Given the description of an element on the screen output the (x, y) to click on. 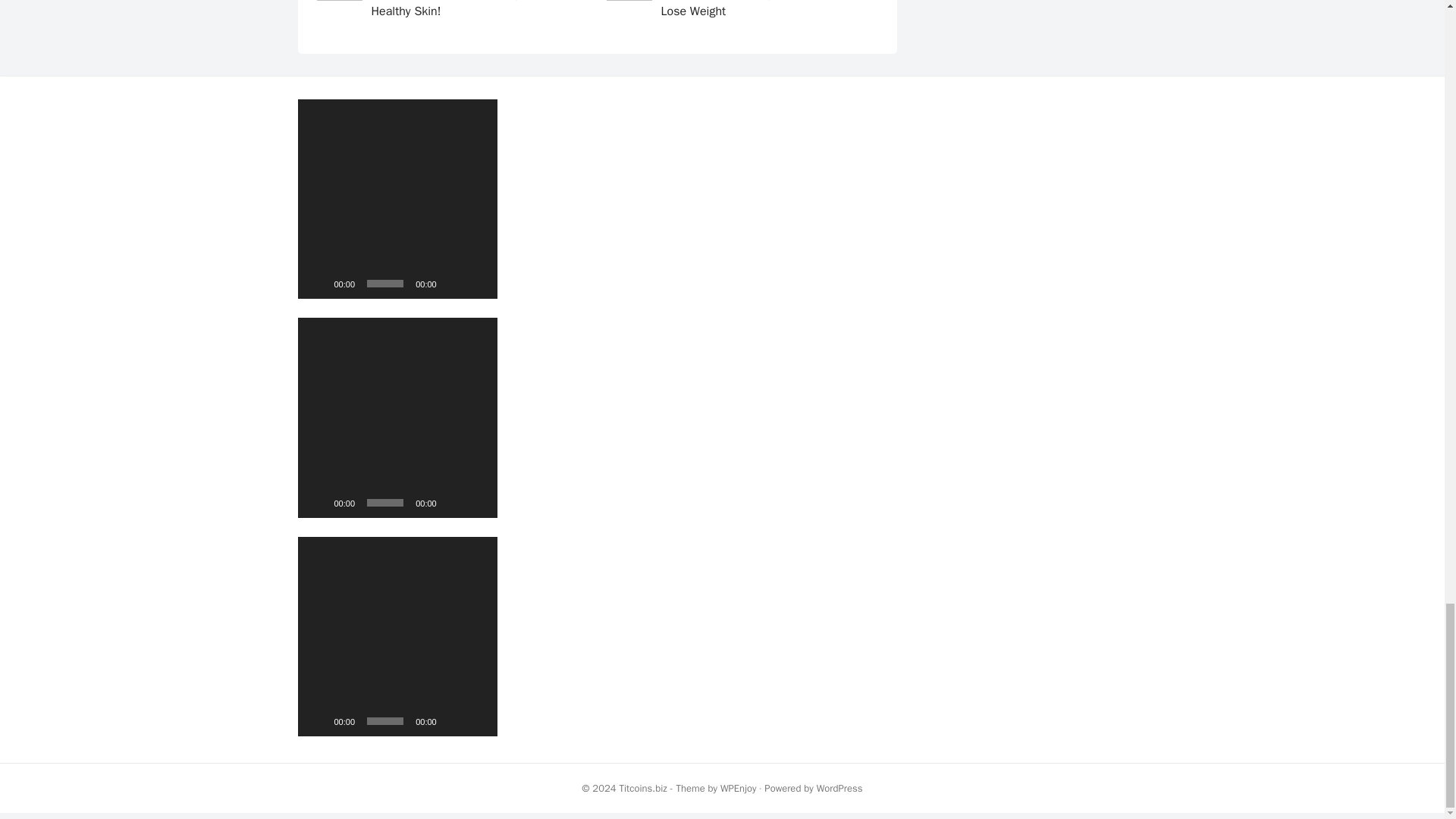
Play (316, 283)
Fullscreen (477, 720)
Tips to Follow Throughout the Day to Lose Weight (757, 9)
Mute (453, 502)
Fullscreen (477, 502)
Mute (453, 283)
Play (316, 502)
Mute (453, 720)
Drink These Herbal Tea Regularly For Healthy Skin! (469, 9)
Fullscreen (477, 283)
